Given the description of an element on the screen output the (x, y) to click on. 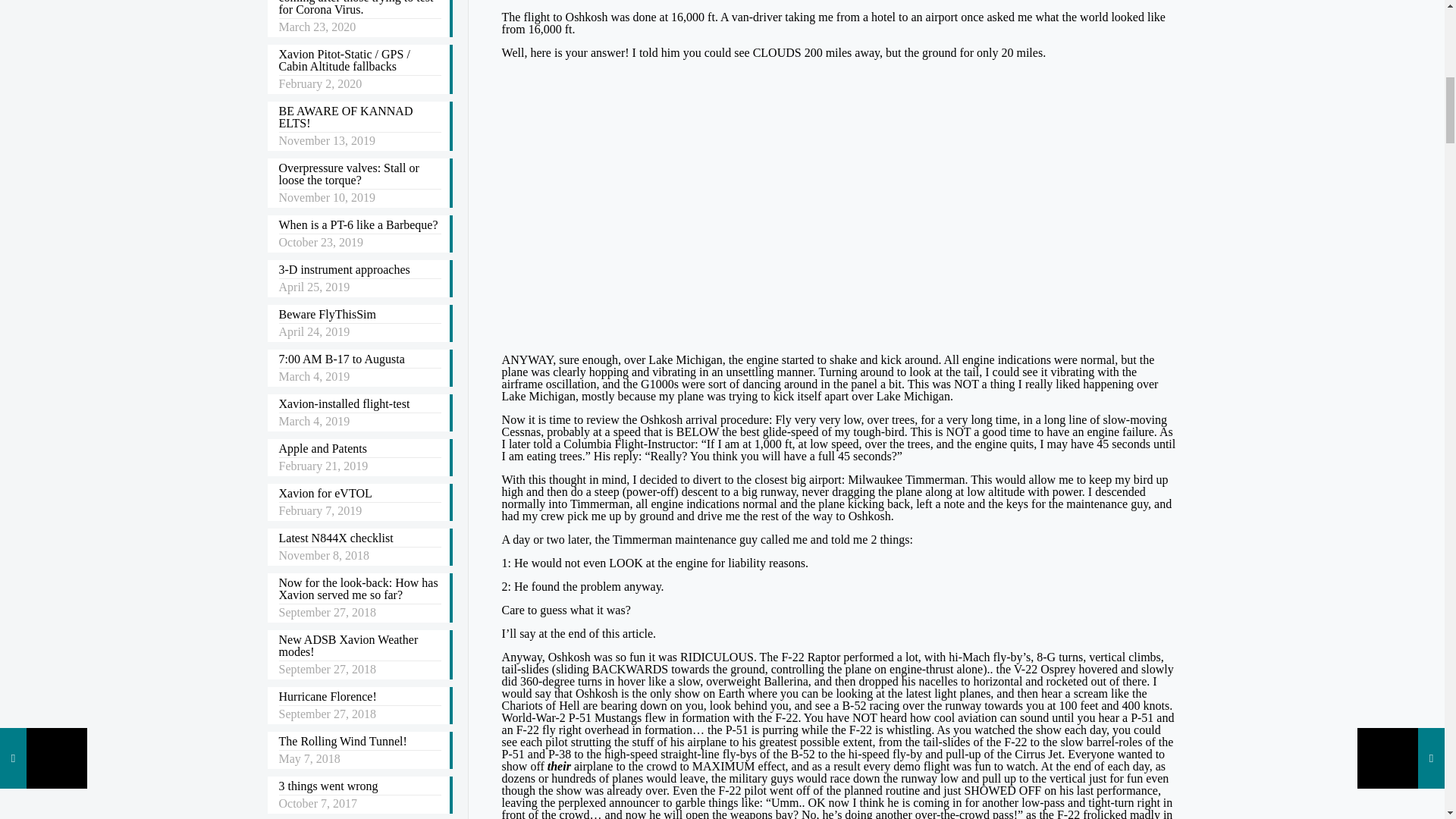
When is a PT-6 like a Barbeque? (360, 226)
Overpressure valves: Stall or loose the torque? (360, 175)
Beware FlyThisSim (360, 315)
3-D instrument approaches (360, 271)
BE AWARE OF KANNAD ELTS! (360, 118)
